Given the description of an element on the screen output the (x, y) to click on. 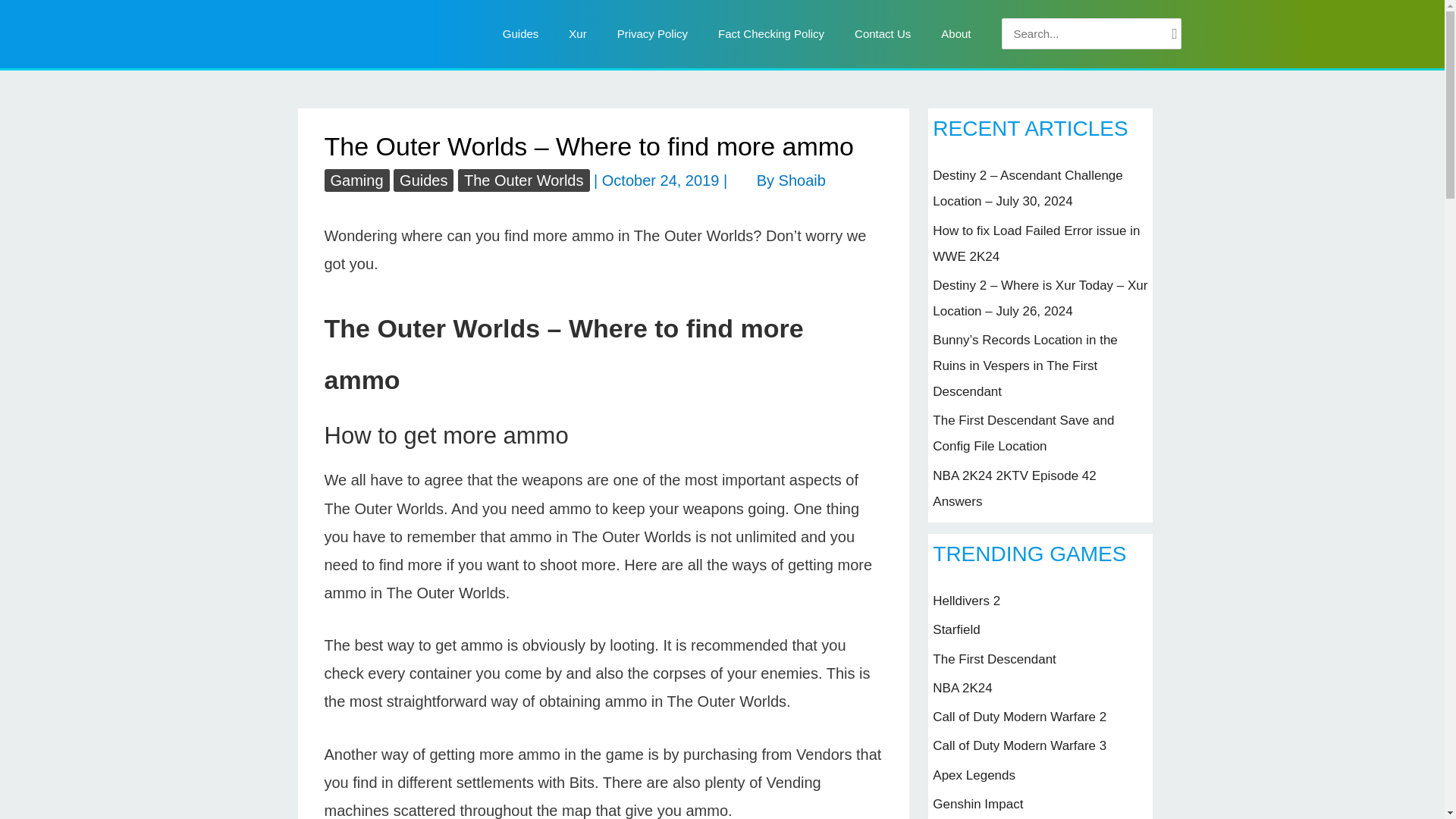
Helldivers 2 (966, 600)
Privacy Policy (652, 33)
Guides (422, 179)
Gaming (357, 179)
The First Descendant Save and Config File Location (1023, 433)
How to fix Load Failed Error issue in WWE 2K24 (1036, 243)
Contact Us (883, 33)
View all posts by Shoaib (801, 180)
The Outer Worlds (523, 179)
Guides (520, 33)
NBA 2K24 2KTV Episode 42 Answers (1014, 488)
Fact Checking Policy (771, 33)
Shoaib (801, 180)
